Given the description of an element on the screen output the (x, y) to click on. 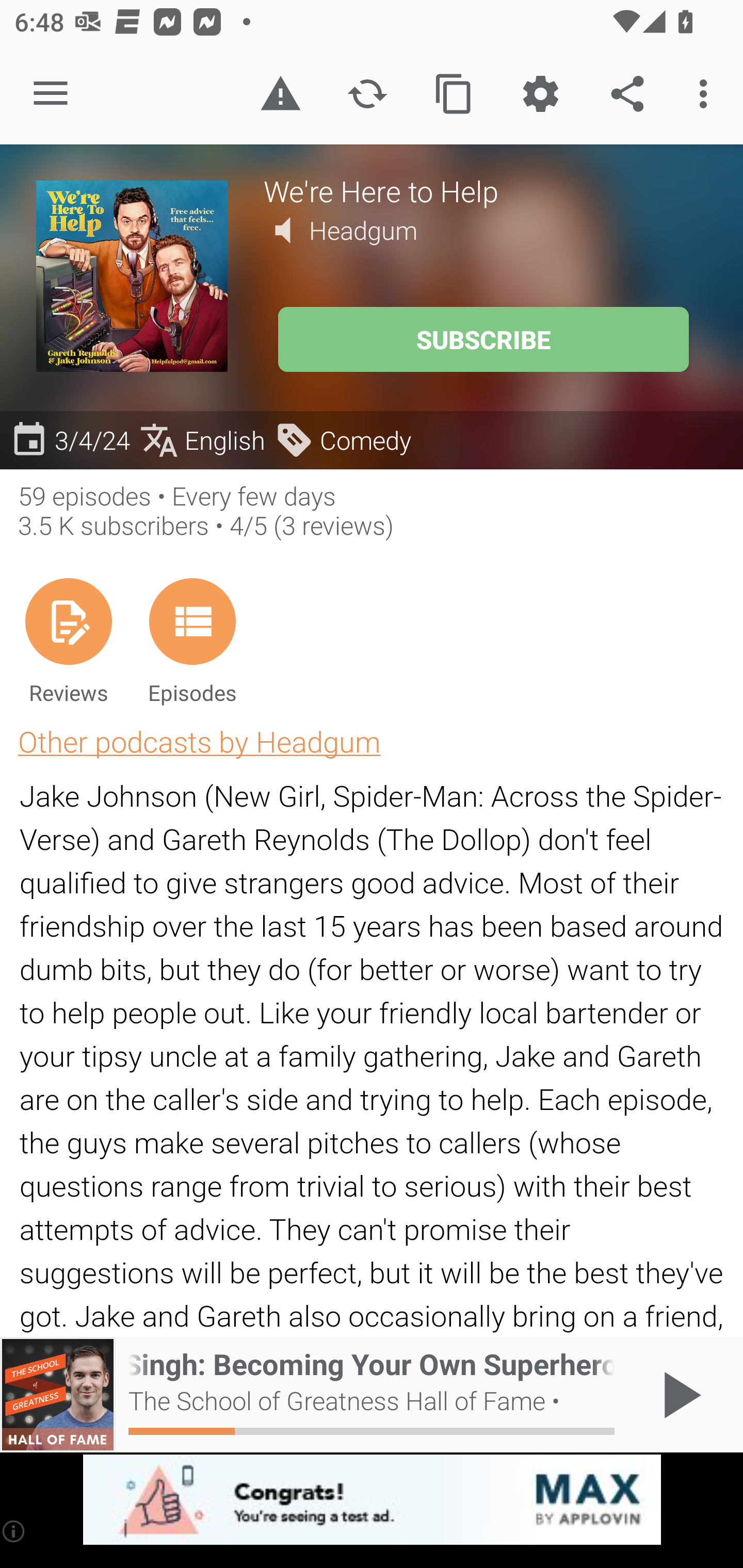
Open navigation sidebar (50, 93)
Report inappropriate content (280, 93)
Refresh podcast description (366, 93)
Copy feed url to clipboard (453, 93)
Custom Settings (540, 93)
Share the podcast (626, 93)
More options (706, 93)
We're Here to Help (484, 190)
Headgum (363, 230)
SUBSCRIBE (482, 339)
Comedy (342, 439)
Reviews (68, 640)
Episodes (192, 640)
Other podcasts by Headgum (198, 740)
Play / Pause (677, 1394)
app-monetization (371, 1500)
(i) (14, 1531)
